Given the description of an element on the screen output the (x, y) to click on. 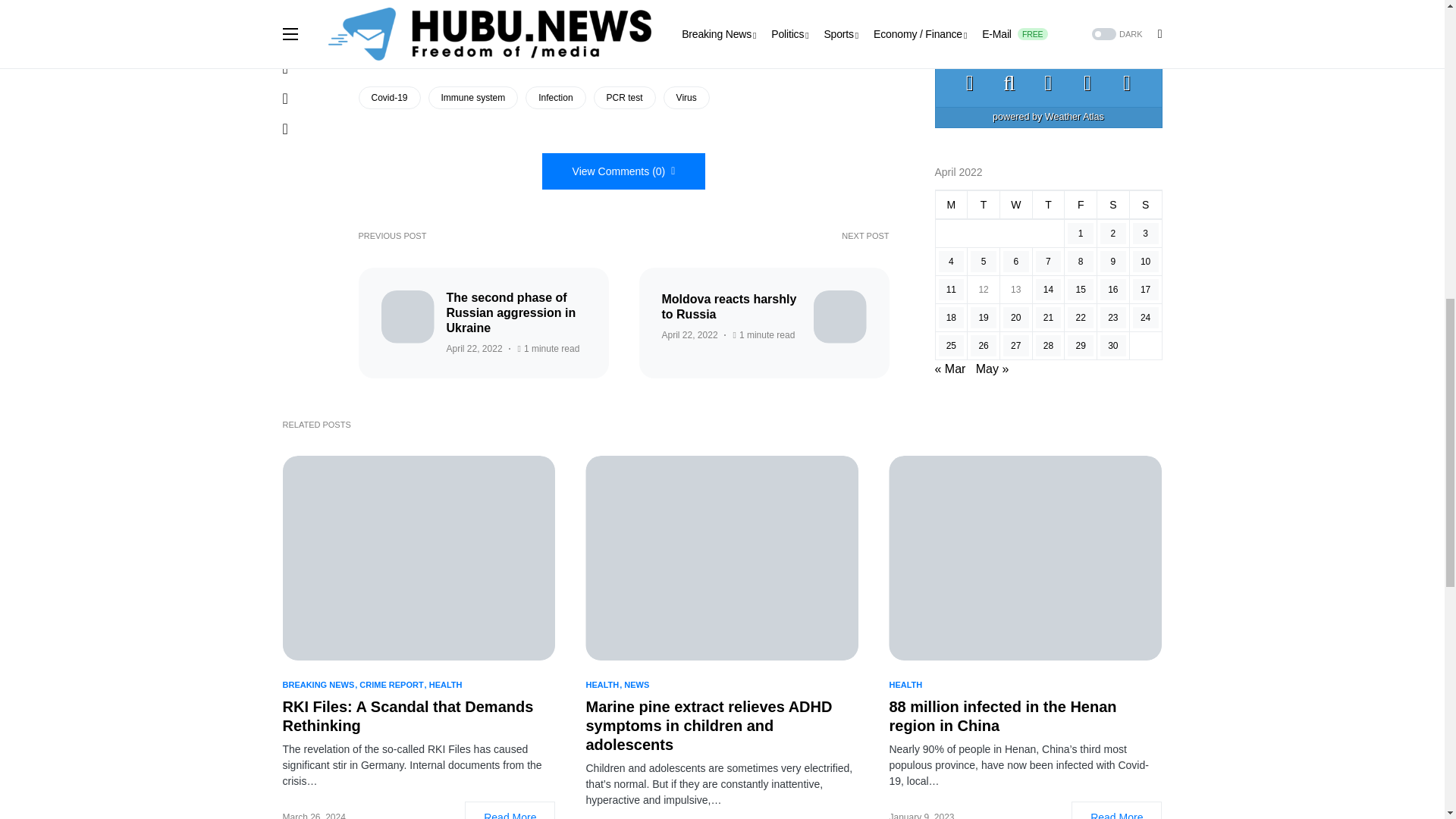
Tuesday (984, 1)
Monday (951, 1)
Wednesday (1015, 1)
Friday (1080, 1)
Sunday (1145, 1)
Thursday (1048, 1)
Saturday (1113, 1)
